Given the description of an element on the screen output the (x, y) to click on. 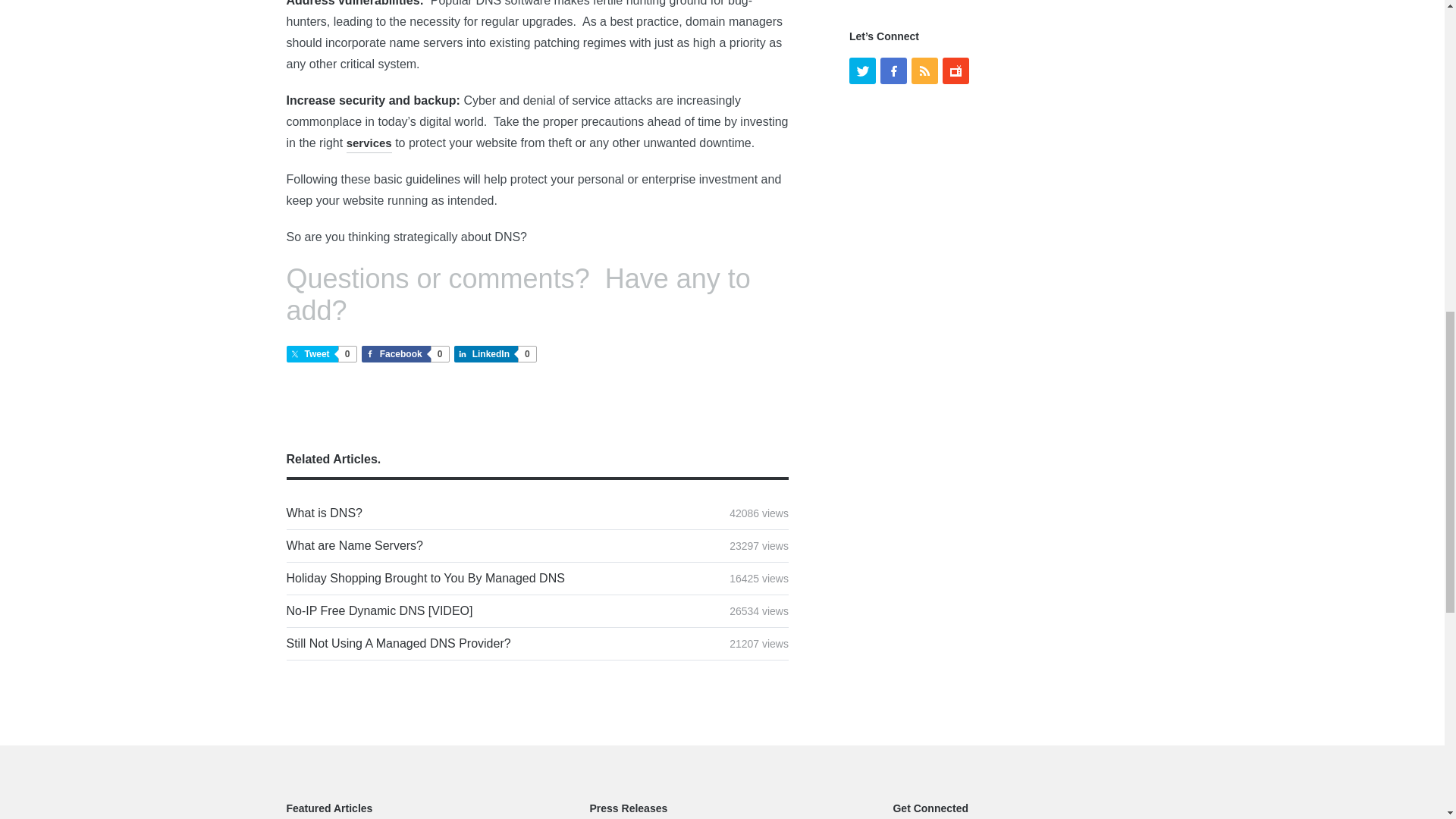
Share on Facebook (404, 353)
RSS Feed (924, 70)
Permalink to What are Name Servers? (494, 353)
What is DNS? (354, 545)
Permalink to What is DNS? (324, 512)
Twitter (324, 512)
services (862, 70)
Permalink to Still Not Using A Managed DNS Provider? (368, 144)
Share on Twitter (398, 643)
What are Name Servers? (320, 353)
Permalink to Holiday Shopping Brought to You By Managed DNS (320, 353)
Facebook (354, 545)
